Given the description of an element on the screen output the (x, y) to click on. 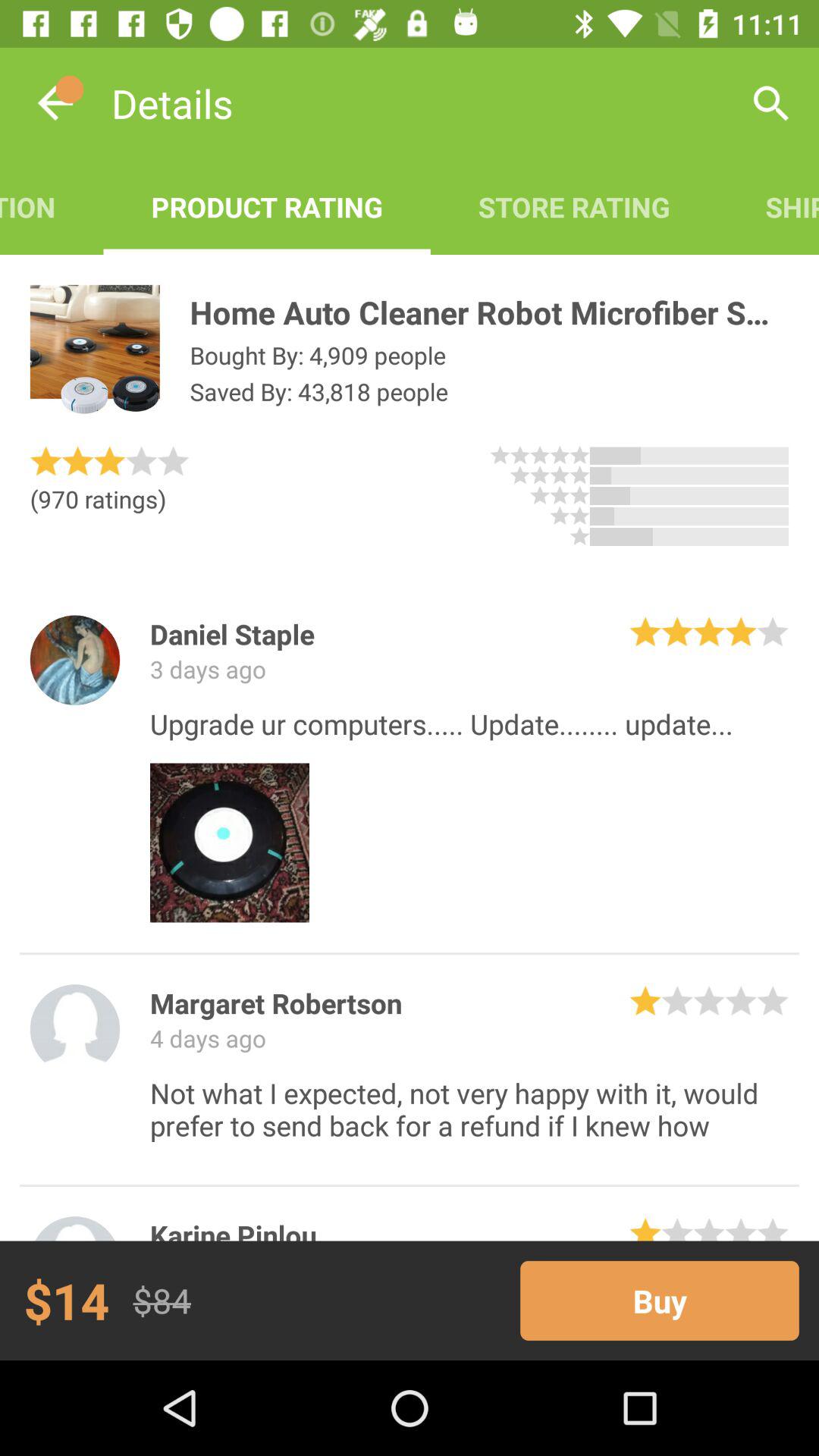
open buy (659, 1300)
